Given the description of an element on the screen output the (x, y) to click on. 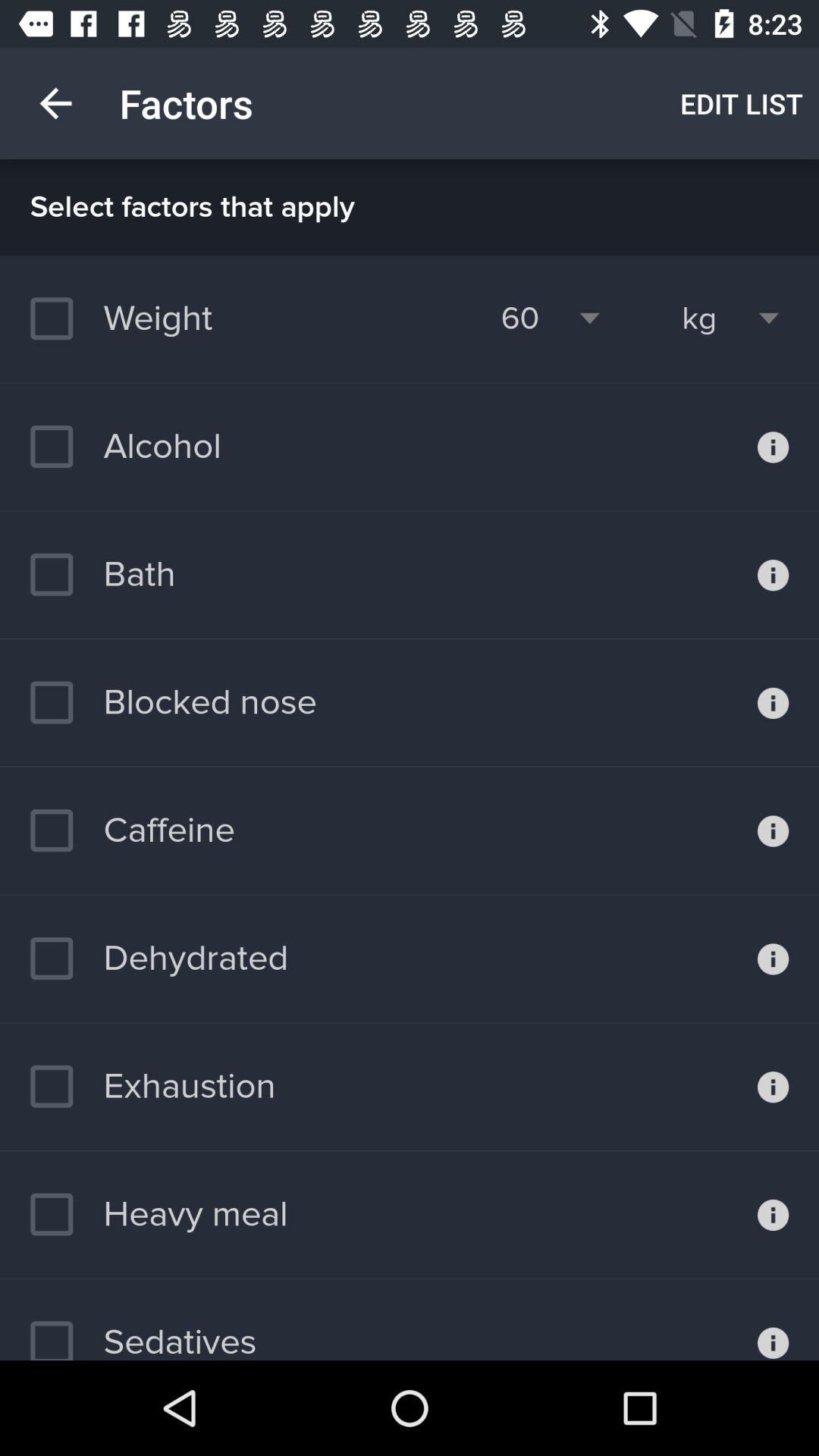
gives the information about heavy meal (773, 1214)
